Given the description of an element on the screen output the (x, y) to click on. 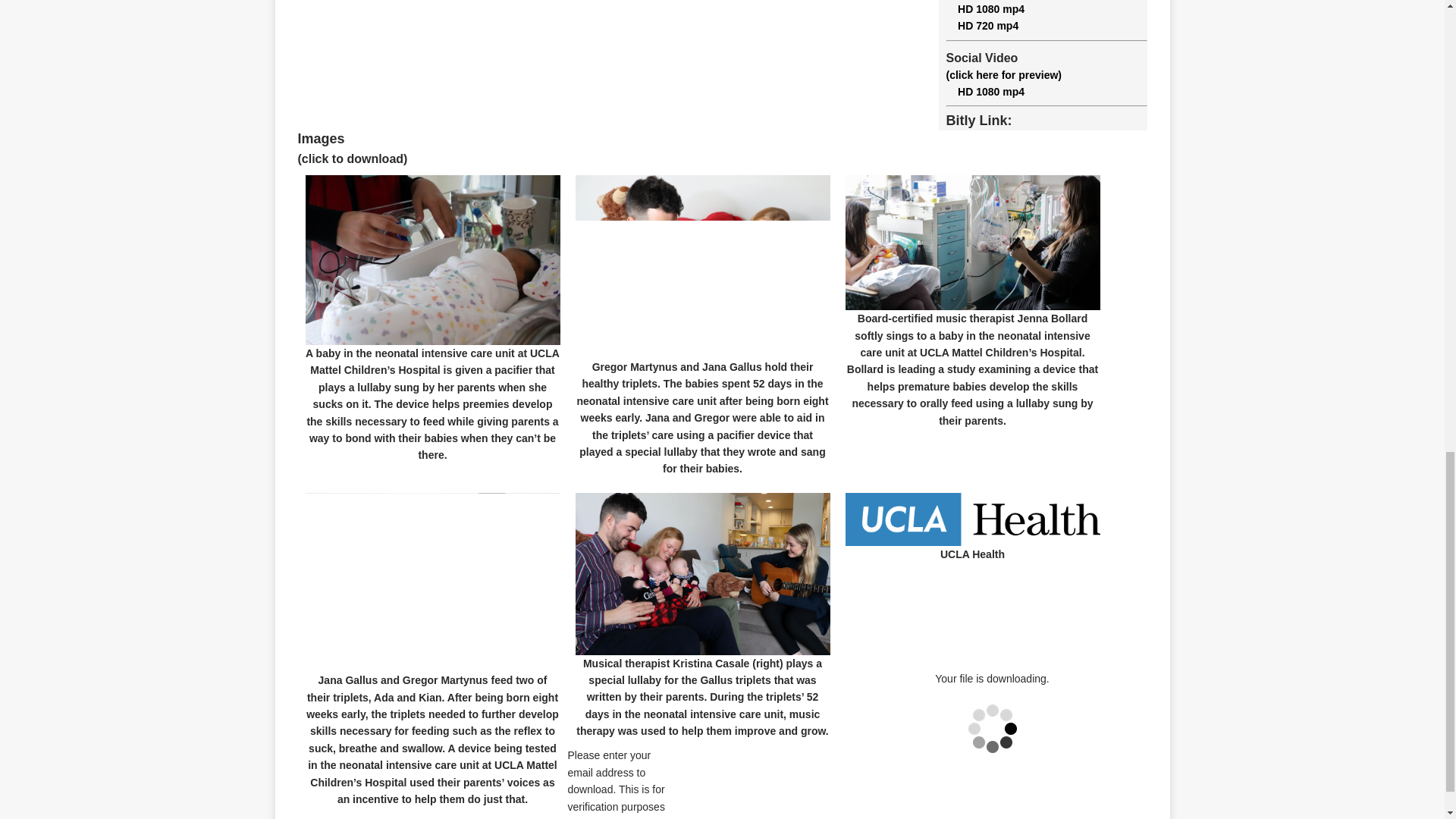
    HD 1080 mp4 (985, 9)
